Given the description of an element on the screen output the (x, y) to click on. 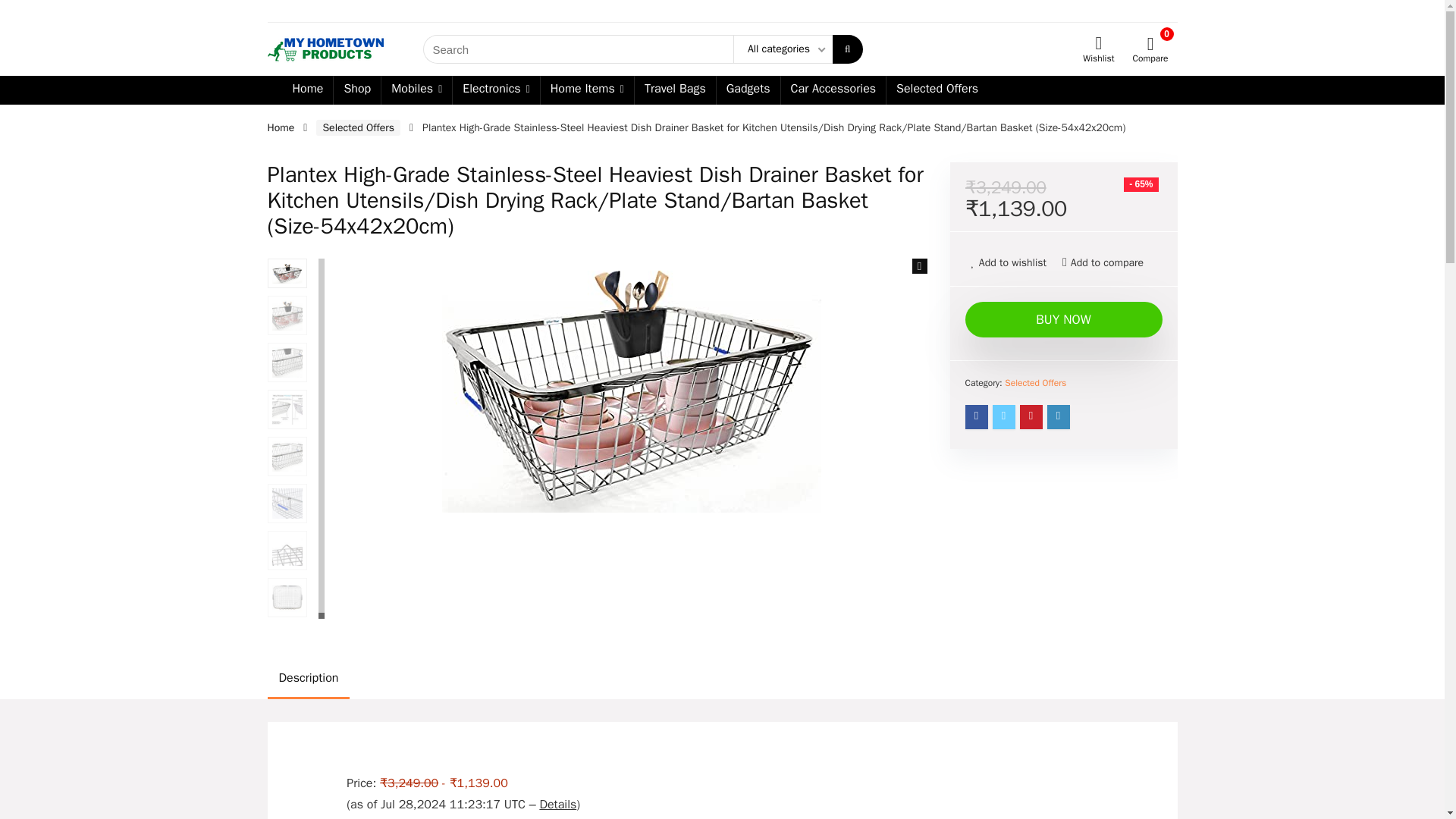
Car Accessories (832, 90)
Description (721, 677)
Travel Bags (675, 90)
Electronics (495, 90)
Home (280, 127)
Gadgets (748, 90)
Selected Offers (937, 90)
Home (307, 90)
Selected Offers (357, 127)
Mobiles (416, 90)
Home Items (586, 90)
Shop (356, 90)
